Given the description of an element on the screen output the (x, y) to click on. 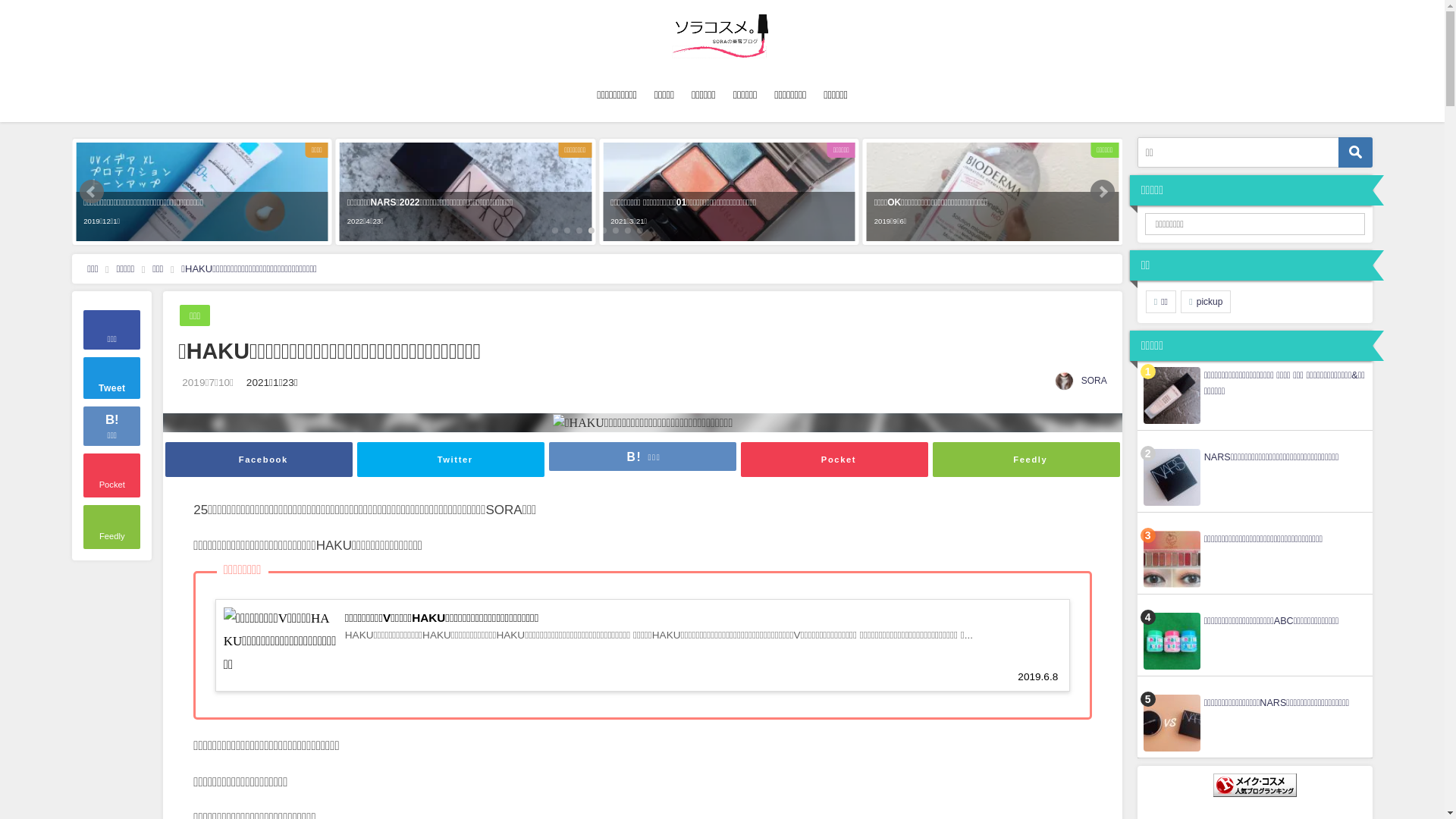
pickup Element type: text (1205, 301)
Feedly Element type: text (1026, 459)
Facebook Element type: text (258, 459)
Twitter Element type: text (450, 459)
Feedly Element type: text (111, 527)
SORA Element type: text (1094, 380)
Pocket Element type: text (834, 459)
Pocket Element type: text (111, 475)
Tweet Element type: text (111, 377)
